Given the description of an element on the screen output the (x, y) to click on. 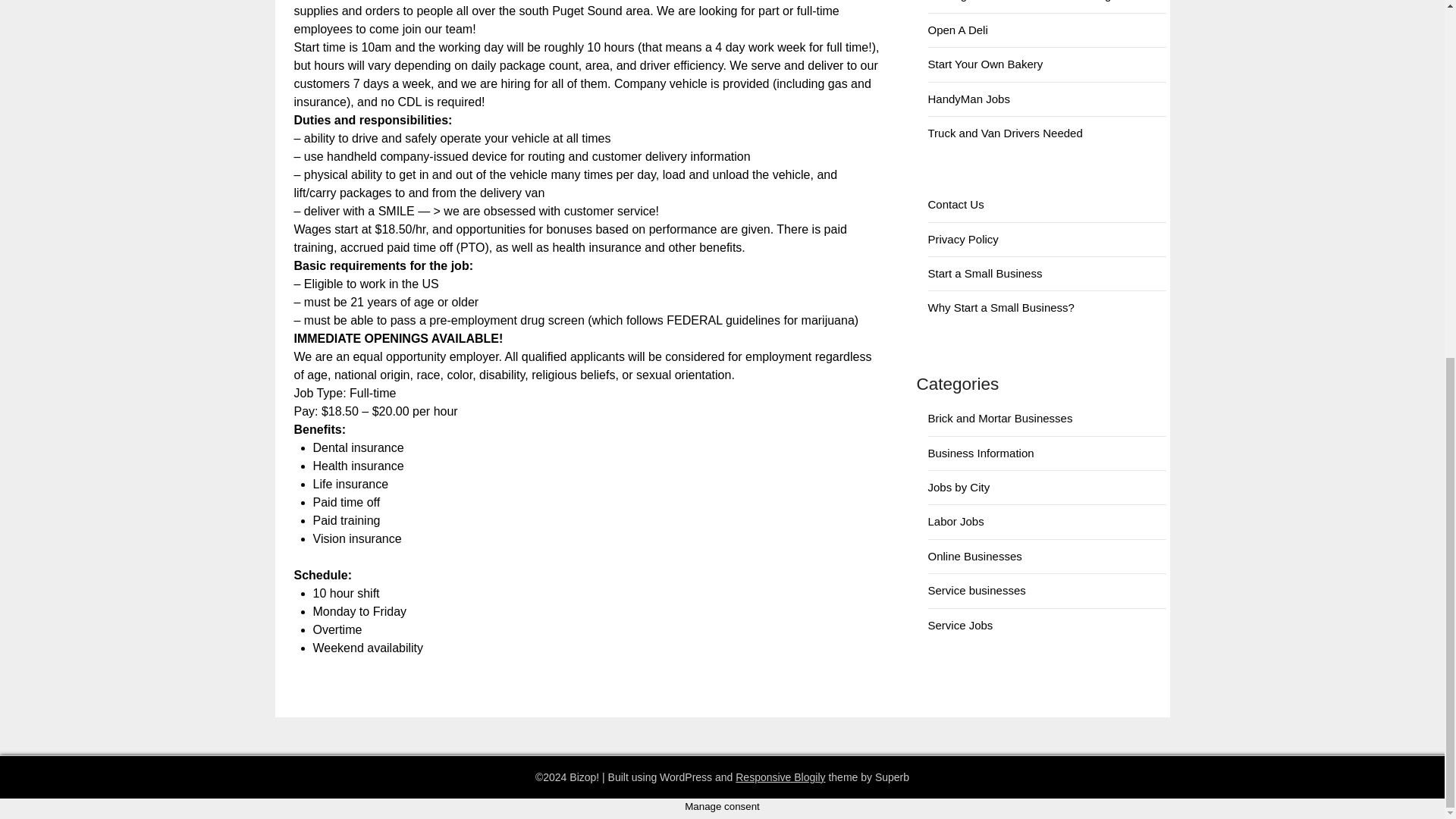
Why Start a Small Business? (1001, 307)
Online Businesses (975, 555)
Responsive Blogily (780, 776)
Contact Us (956, 204)
Labor Jobs (956, 521)
Business Information (980, 452)
HandyMan Jobs (969, 98)
Brick and Mortar Businesses (1000, 418)
Start Your Own Bakery (985, 63)
